Given the description of an element on the screen output the (x, y) to click on. 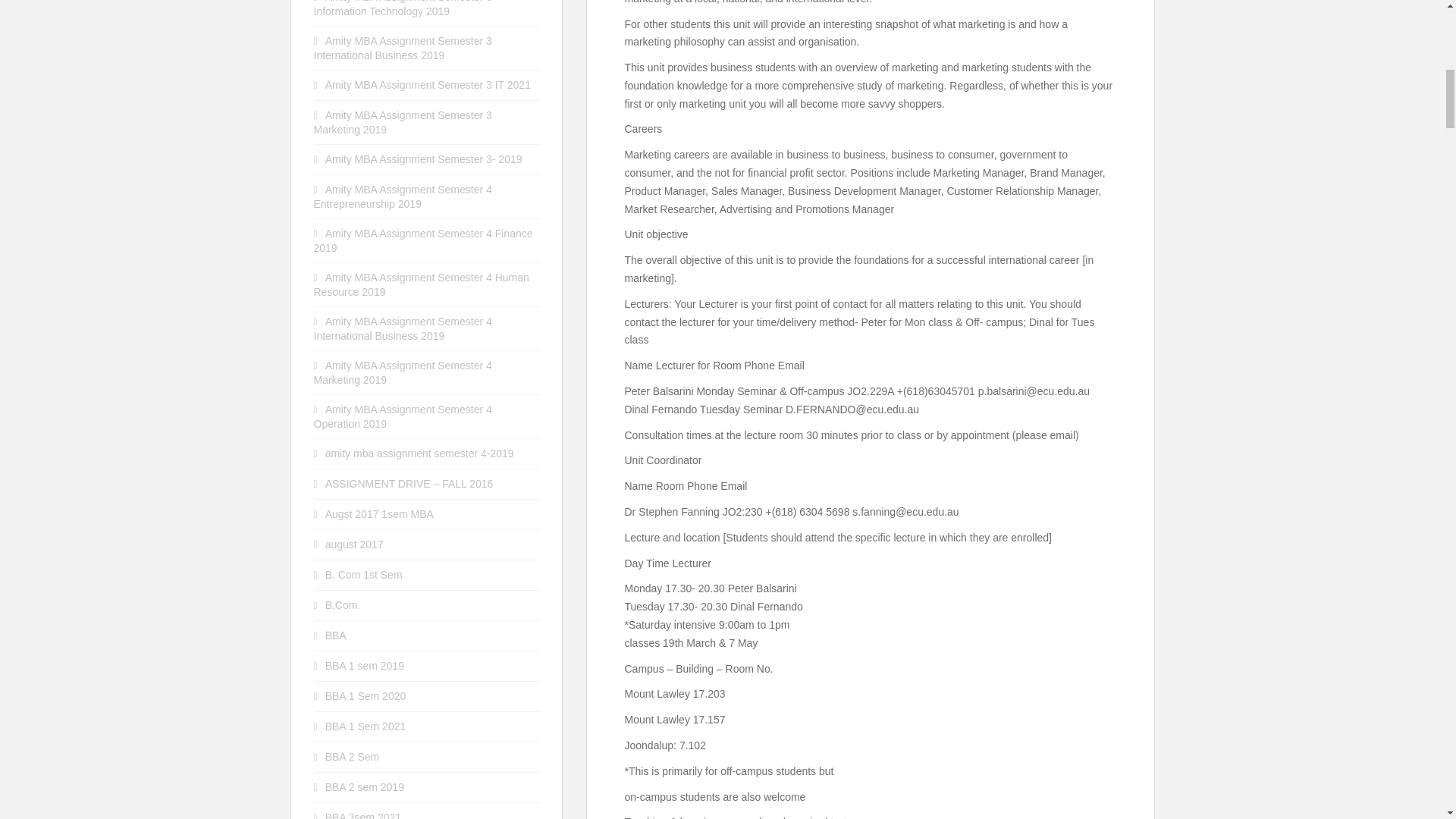
Amity MBA Assignment Semester 3 International Business 2019 (403, 48)
Amity MBA Assignment Semester 3- 2019 (423, 159)
Amity MBA Assignment Semester 3 Marketing 2019 (403, 121)
Amity MBA Assignment Semester 4 Marketing 2019 (403, 372)
Amity MBA Assignment Semester 4 Entrepreneurship 2019 (403, 196)
Amity MBA Assignment Semester 4 International Business 2019 (403, 328)
Amity MBA Assignment Semester 4 Human Resource 2019 (421, 284)
Amity MBA Assignment Semester 3 Information Technology 2019 (403, 8)
Amity MBA Assignment Semester 4 Finance 2019 (423, 240)
Amity MBA Assignment Semester 3 IT 2021 (427, 84)
